Given the description of an element on the screen output the (x, y) to click on. 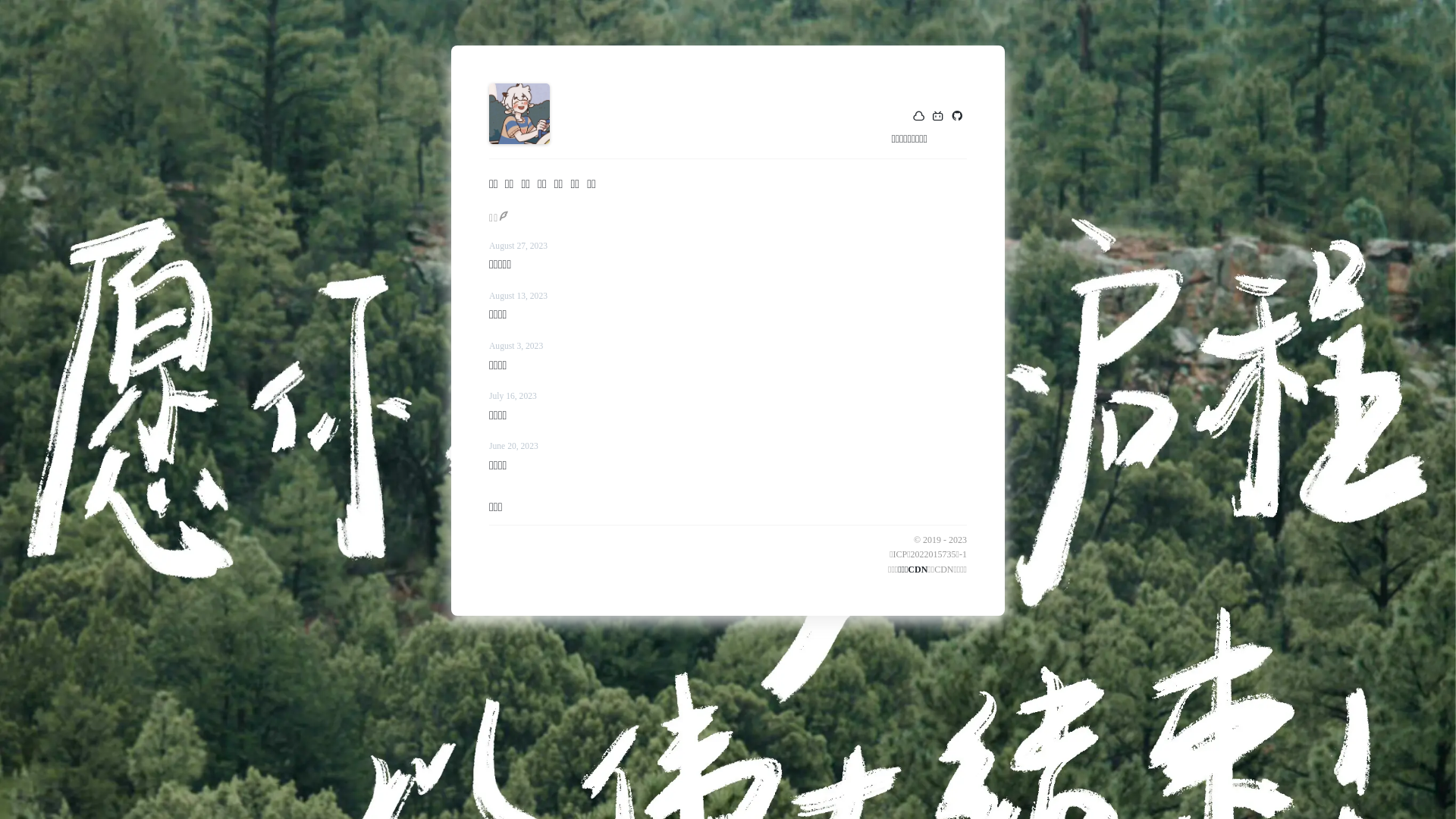
github Element type: hover (956, 117)
bilibili Element type: hover (937, 117)
